Given the description of an element on the screen output the (x, y) to click on. 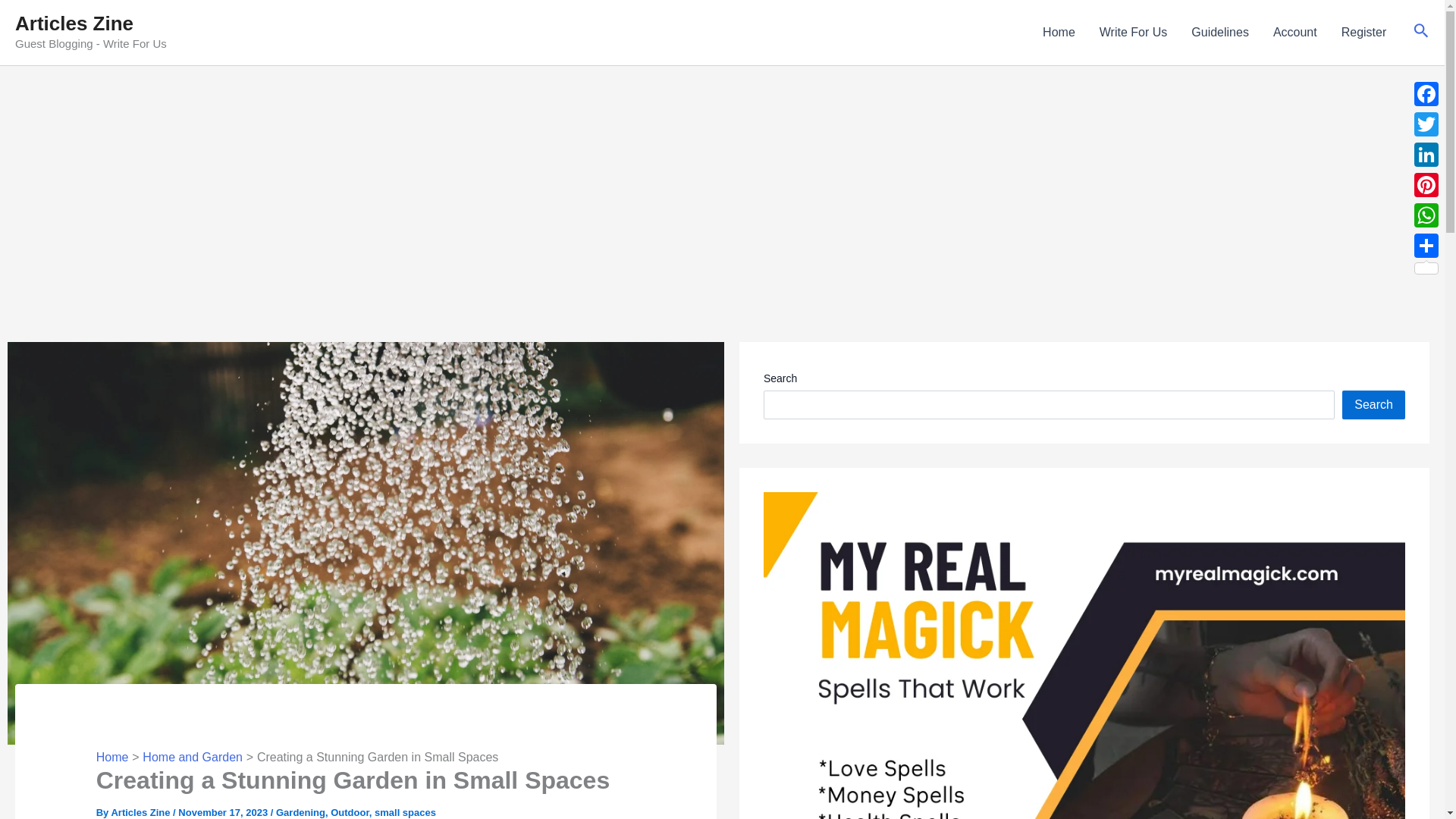
Outdoor (349, 812)
Home (1058, 32)
Articles Zine (73, 23)
Write For Us (1133, 32)
Gardening (300, 812)
Home and Garden (192, 757)
Home (112, 757)
View all posts by Articles Zine (141, 812)
Account (1294, 32)
Guidelines (1219, 32)
Register (1364, 32)
small spaces (404, 812)
Articles Zine (141, 812)
